Given the description of an element on the screen output the (x, y) to click on. 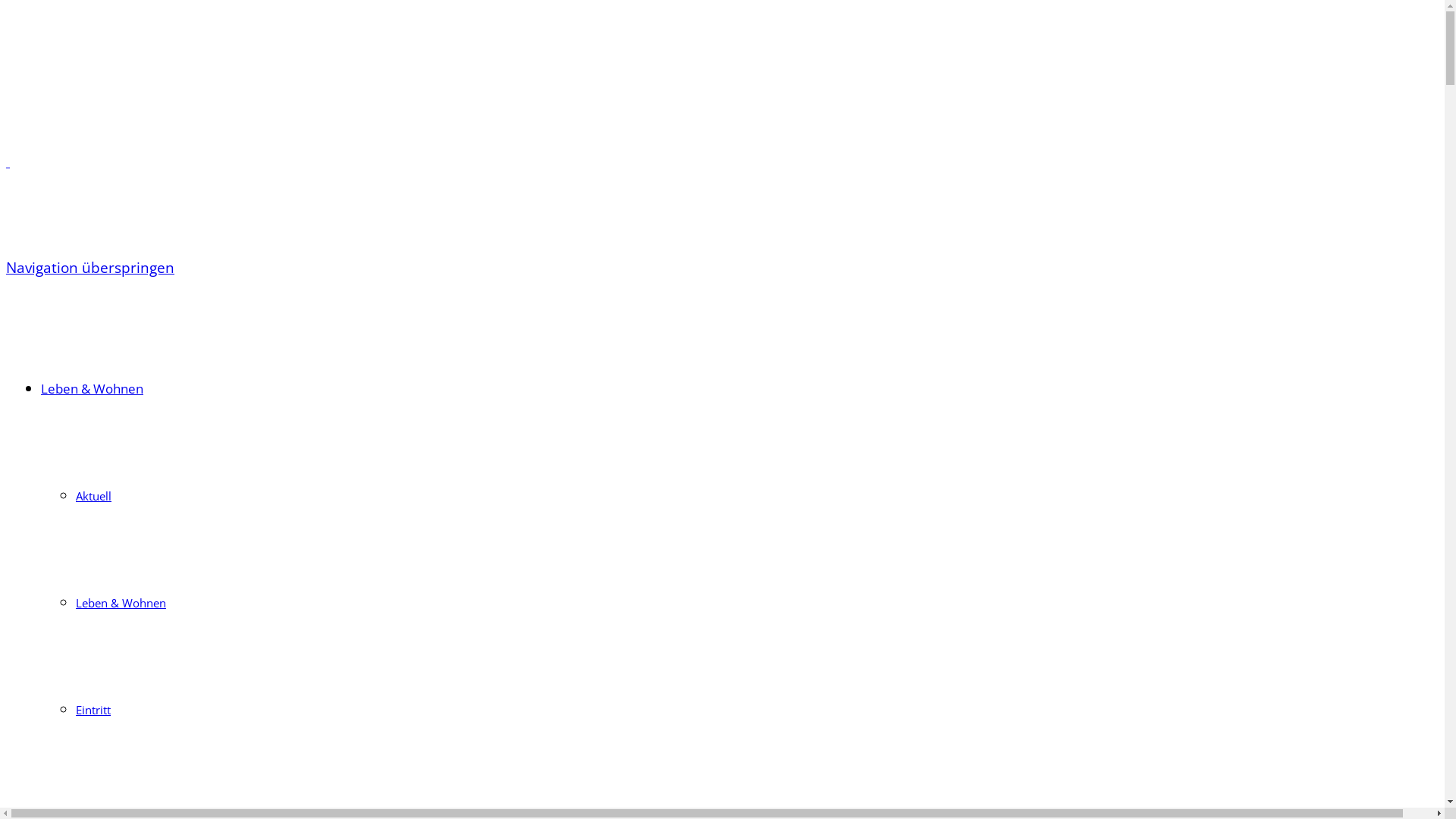
Aktuell Element type: text (93, 495)
Leben & Wohnen Element type: text (120, 602)
Eintritt Element type: text (92, 709)
Leben & Wohnen Element type: text (91, 388)
  Element type: text (7, 161)
